Given the description of an element on the screen output the (x, y) to click on. 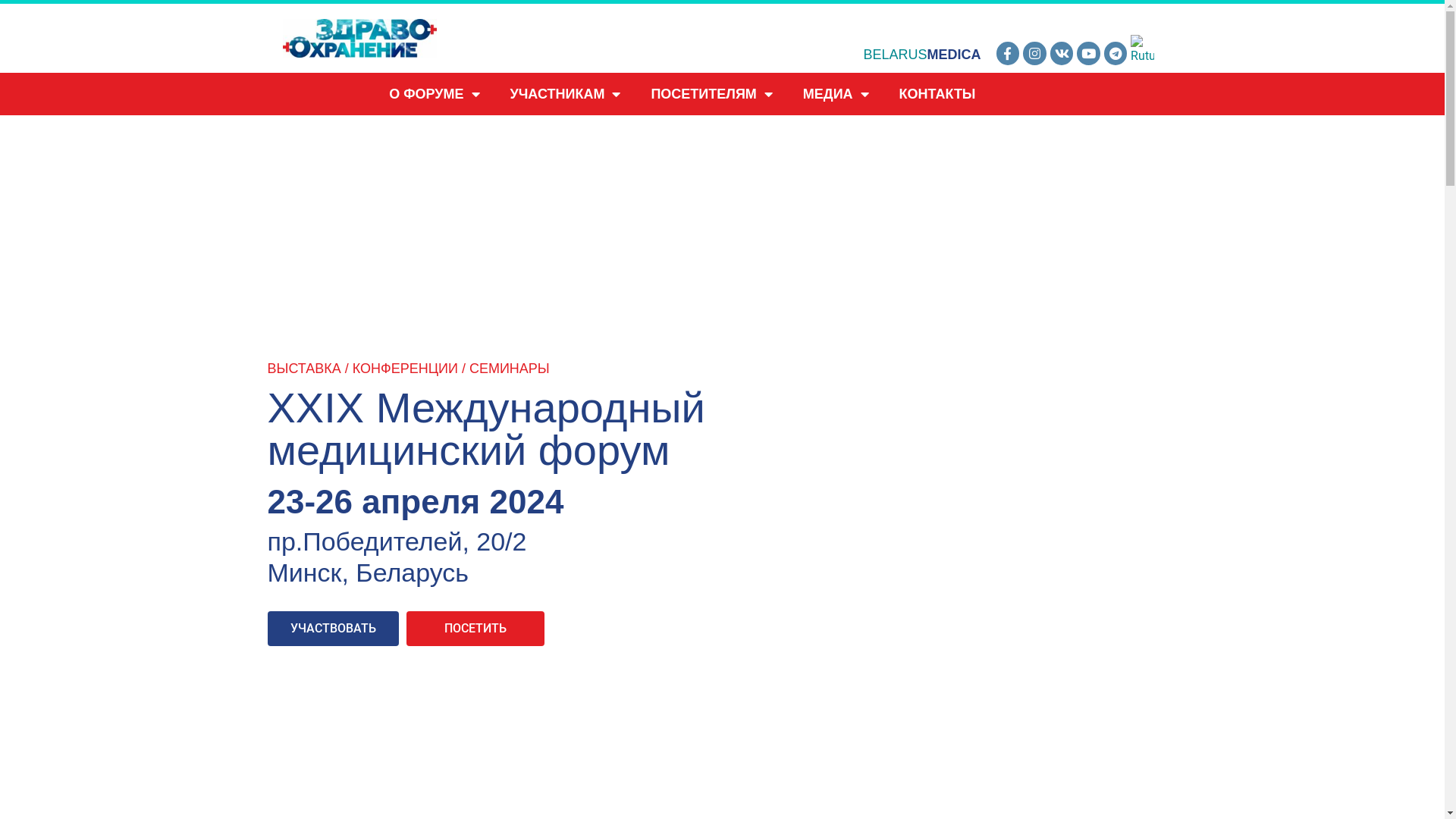
RutubeSVG20 Element type: hover (1142, 49)
